Given the description of an element on the screen output the (x, y) to click on. 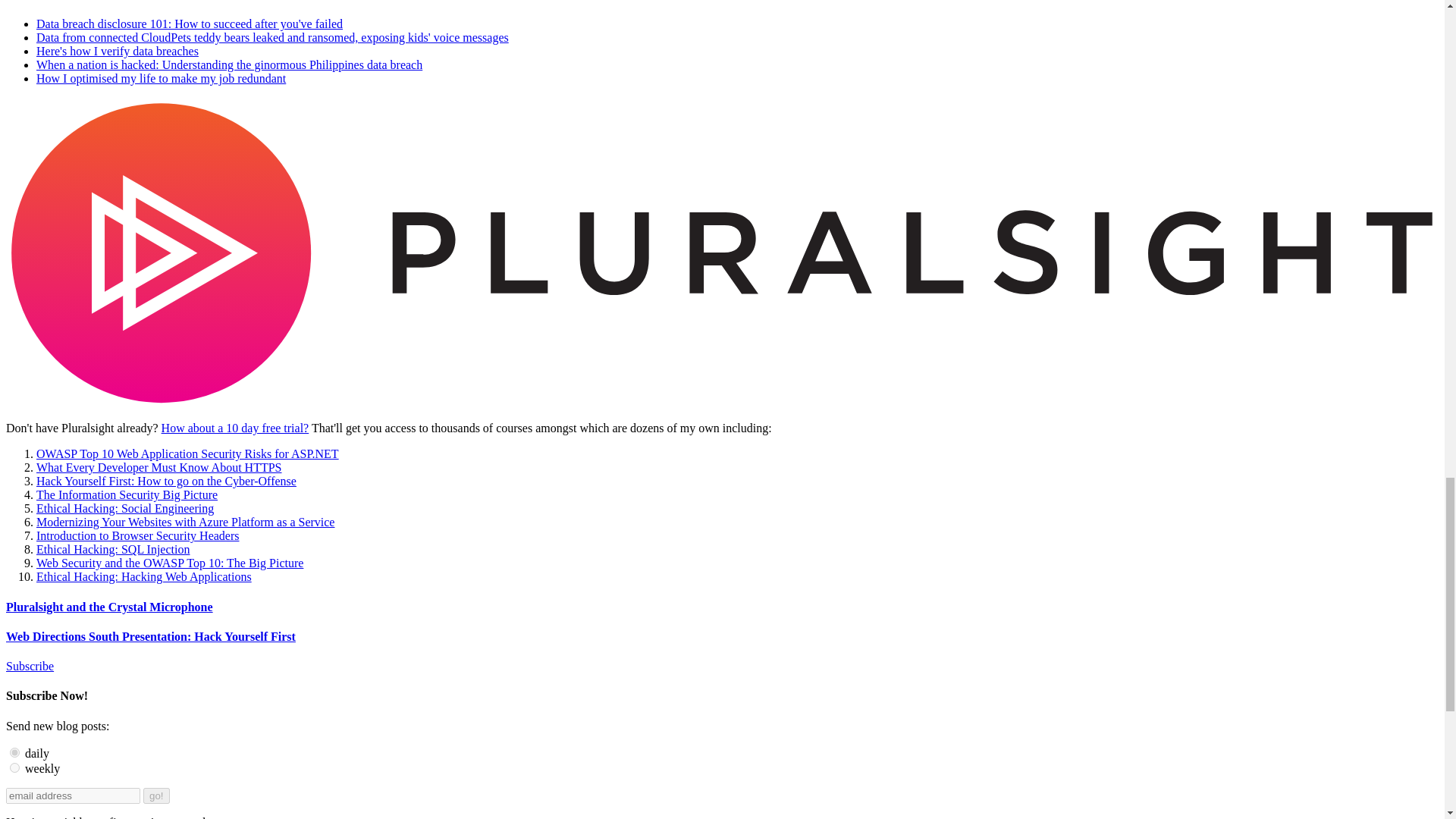
Daily (15, 752)
Weekly (15, 767)
go! (156, 795)
